Given the description of an element on the screen output the (x, y) to click on. 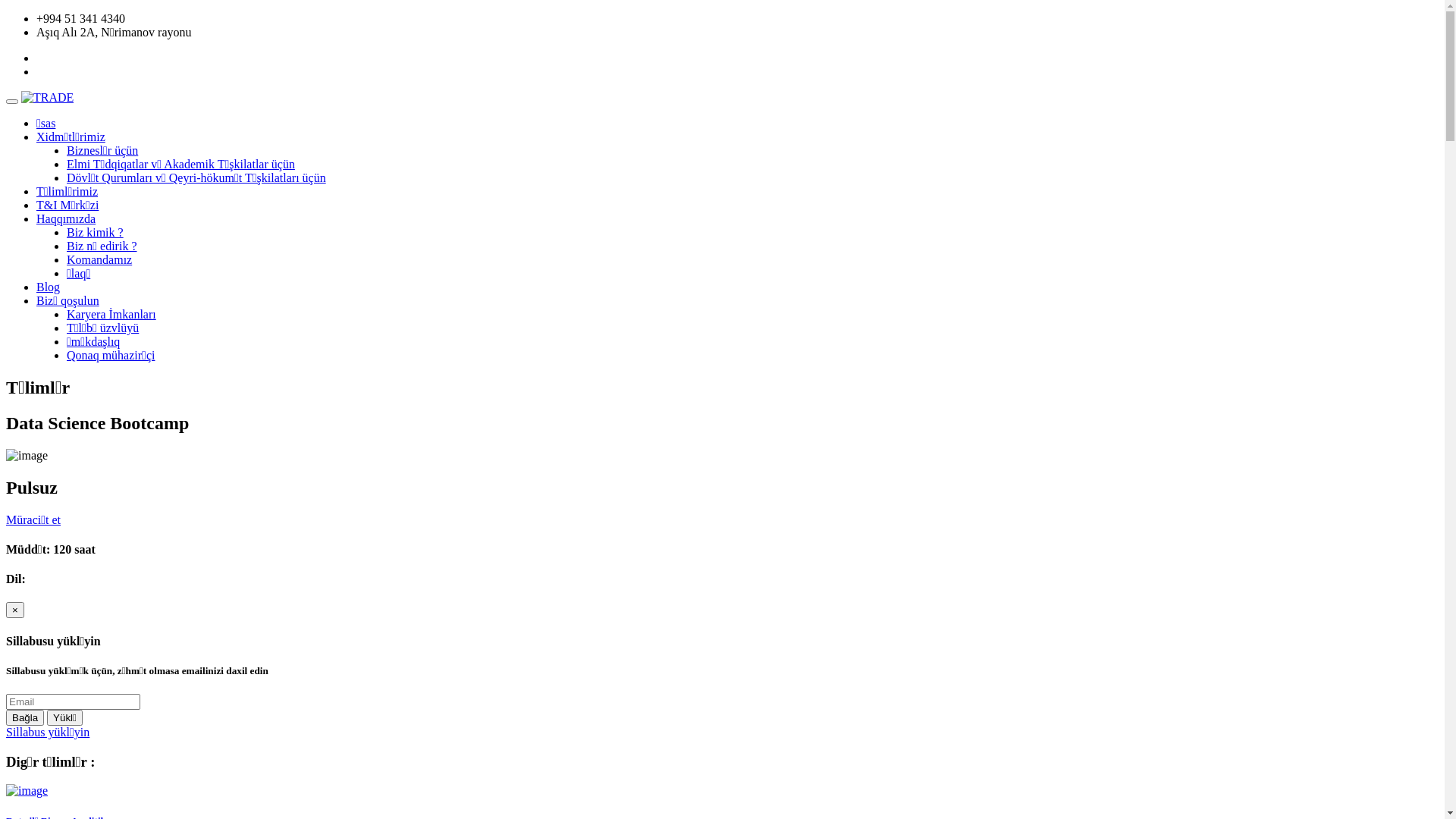
Biz kimik ? Element type: text (94, 231)
Blog Element type: text (47, 286)
